Given the description of an element on the screen output the (x, y) to click on. 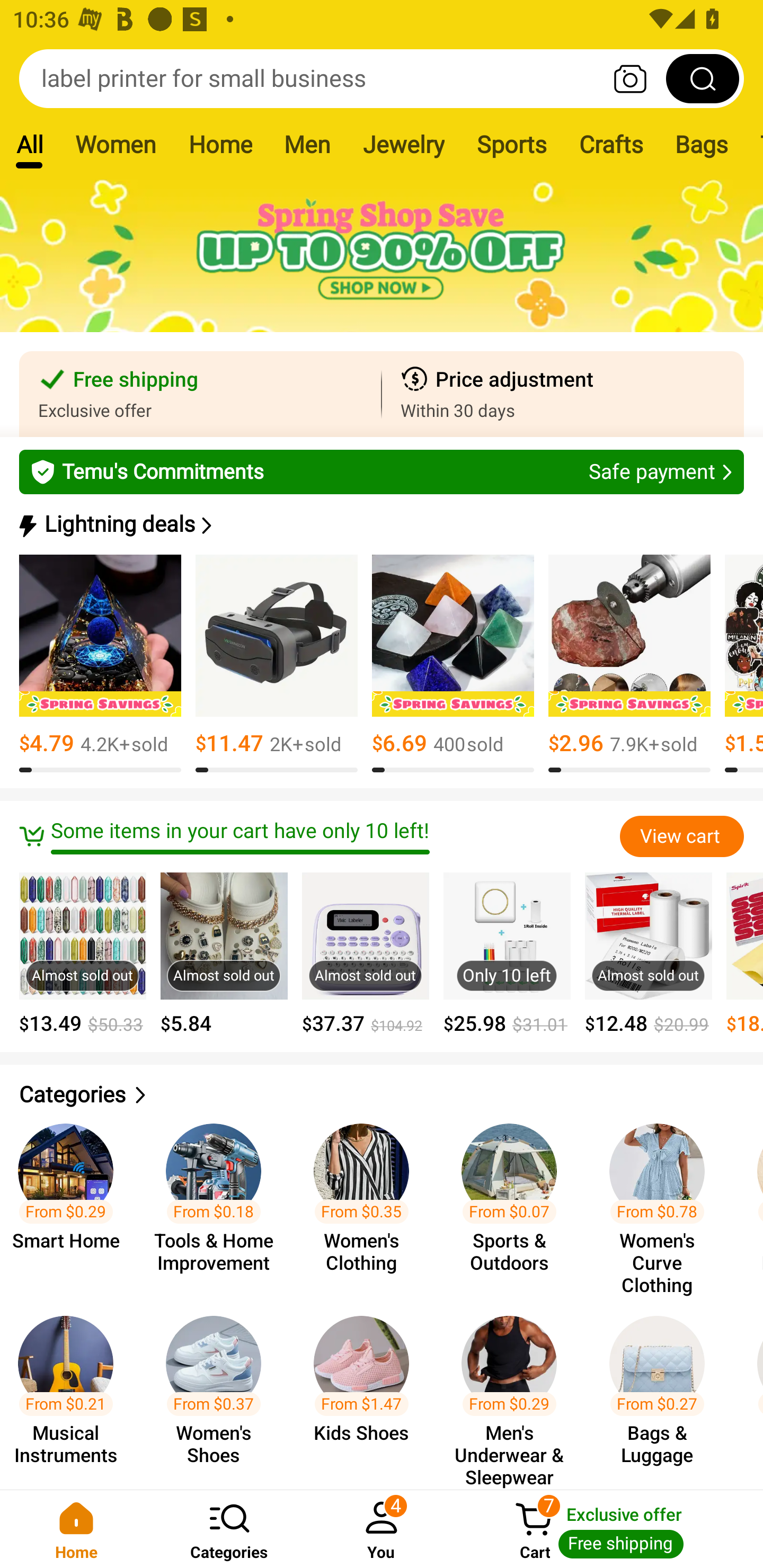
label printer for small business (381, 78)
All (29, 144)
Women (115, 144)
Home (219, 144)
Men (306, 144)
Jewelry (403, 144)
Sports (511, 144)
Crafts (611, 144)
Bags (701, 144)
Free shipping Exclusive offer (200, 394)
Price adjustment Within 30 days (562, 394)
Temu's Commitments (381, 471)
Lightning deals (379, 524)
$4.79 4.2K+￼sold 8.0 (100, 664)
$11.47 2K+￼sold 8.0 (276, 664)
$6.69 400￼sold 8.0 (453, 664)
$2.96 7.9K+￼sold 8.0 (629, 664)
Some items in your cart have only 10 left! (319, 836)
View cart  (681, 836)
Almost sold out $13.49 $50.33 (82, 953)
Almost sold out $5.84 (223, 953)
Almost sold out $37.37 $104.92 (365, 953)
Only 10 left $25.98 $31.01 (506, 953)
Almost sold out $12.48 $20.99 (648, 953)
Categories (381, 1094)
From $0.29 Smart Home (72, 1199)
From $0.18 Tools & Home Improvement (218, 1199)
From $0.35 Women's Clothing (366, 1199)
From $0.07 Sports & Outdoors (515, 1199)
From $0.78 Women's Curve Clothing (662, 1199)
From $0.21 Musical Instruments (72, 1392)
From $0.37 Women's Shoes (218, 1392)
From $1.47 Kids Shoes (366, 1392)
From $0.29 Men's Underwear & Sleepwear (515, 1392)
From $0.27 Bags & Luggage (662, 1392)
Home (76, 1528)
Categories (228, 1528)
You 4 You (381, 1528)
Cart 7 Cart Exclusive offer (610, 1528)
